Given the description of an element on the screen output the (x, y) to click on. 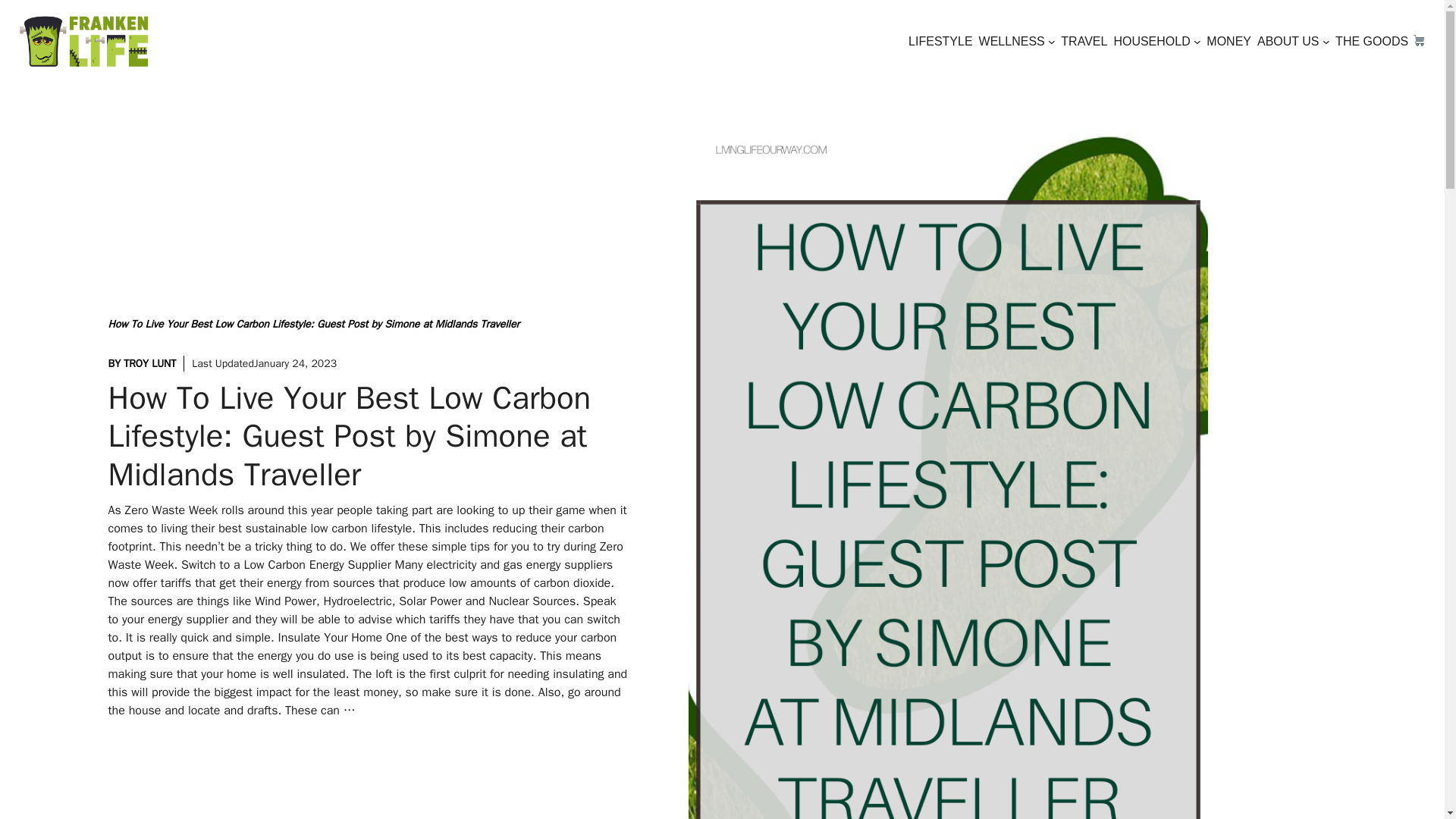
TRAVEL (1083, 41)
WELLNESS (1011, 41)
LIFESTYLE (940, 41)
ABOUT US (1288, 41)
MONEY (1228, 41)
HOUSEHOLD (1151, 41)
cropped-Logo-Final-File-01.png (83, 41)
THE GOODS (1380, 41)
